Given the description of an element on the screen output the (x, y) to click on. 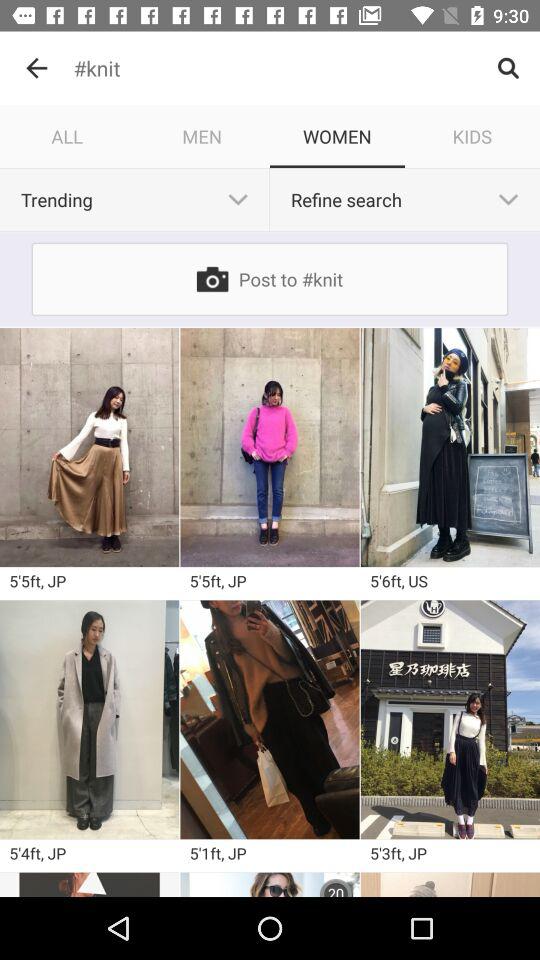
swipe until kids (472, 136)
